Given the description of an element on the screen output the (x, y) to click on. 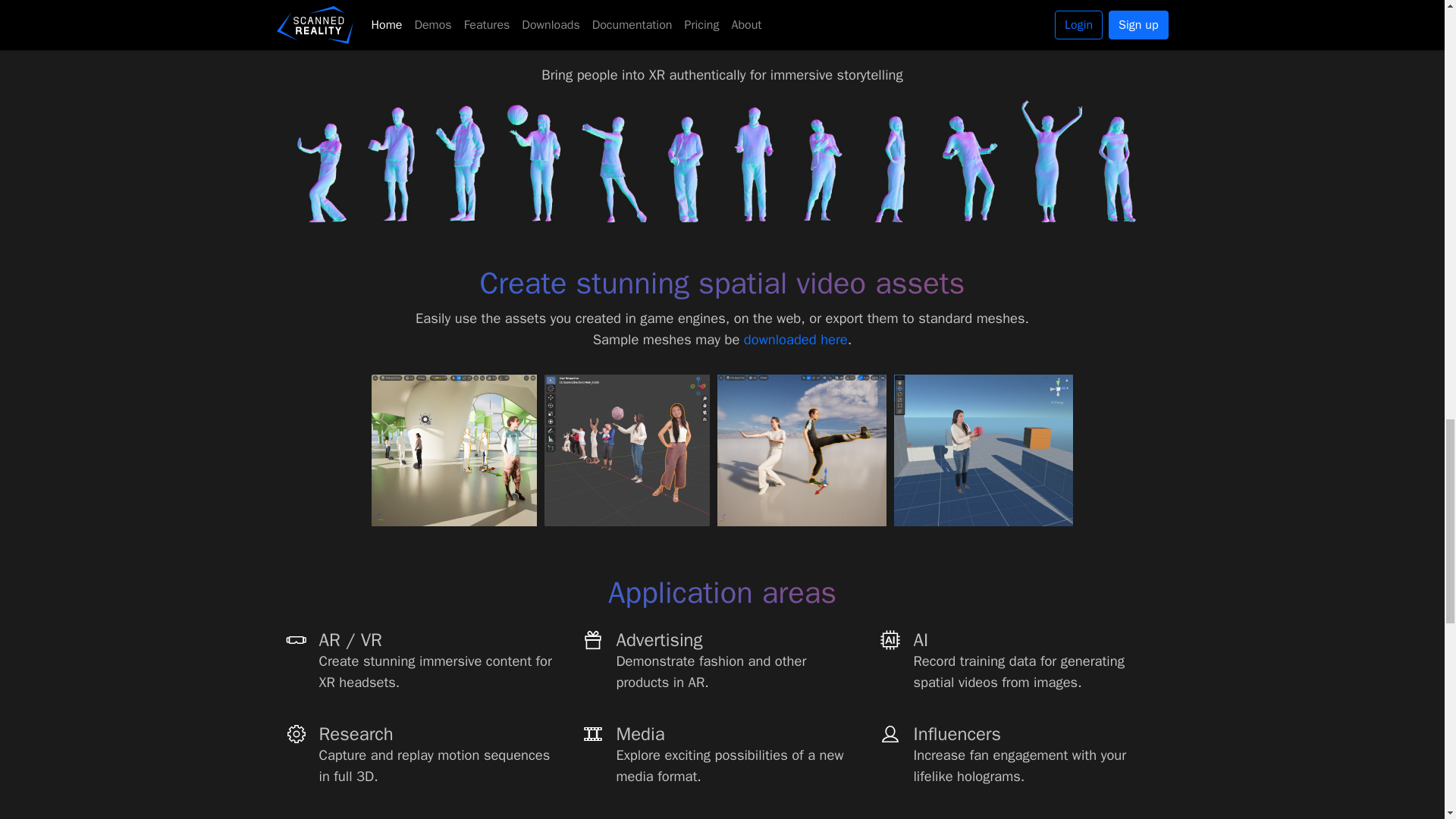
downloaded here (795, 339)
